Given the description of an element on the screen output the (x, y) to click on. 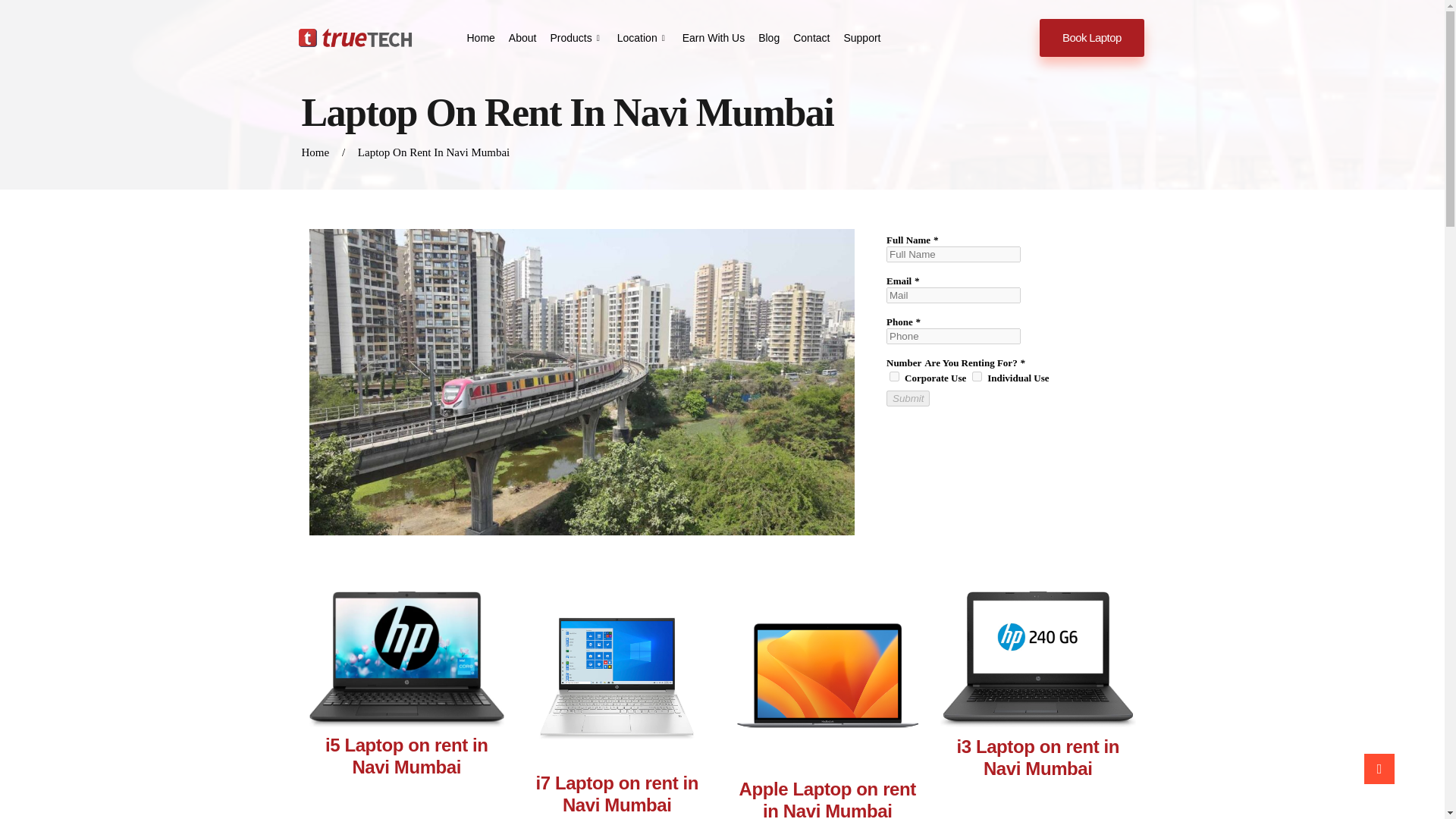
Location (640, 37)
Home (315, 151)
Book Laptop (1091, 37)
Products (573, 37)
Earn With Us (710, 37)
